Given the description of an element on the screen output the (x, y) to click on. 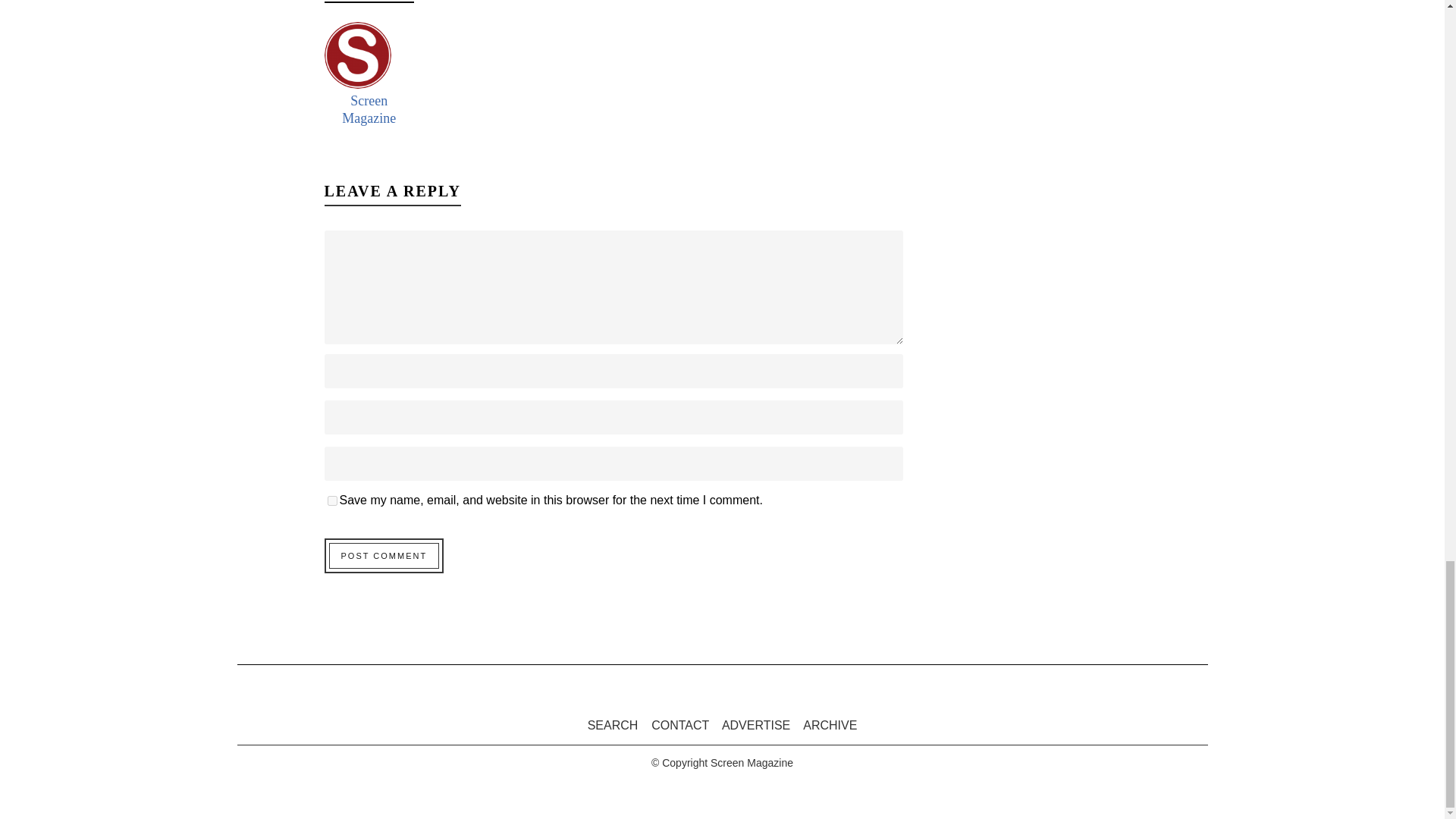
Post Comment (384, 555)
yes (332, 501)
Posts by Screen Magazine (369, 109)
Post Comment (384, 555)
Screen Magazine (369, 109)
